Given the description of an element on the screen output the (x, y) to click on. 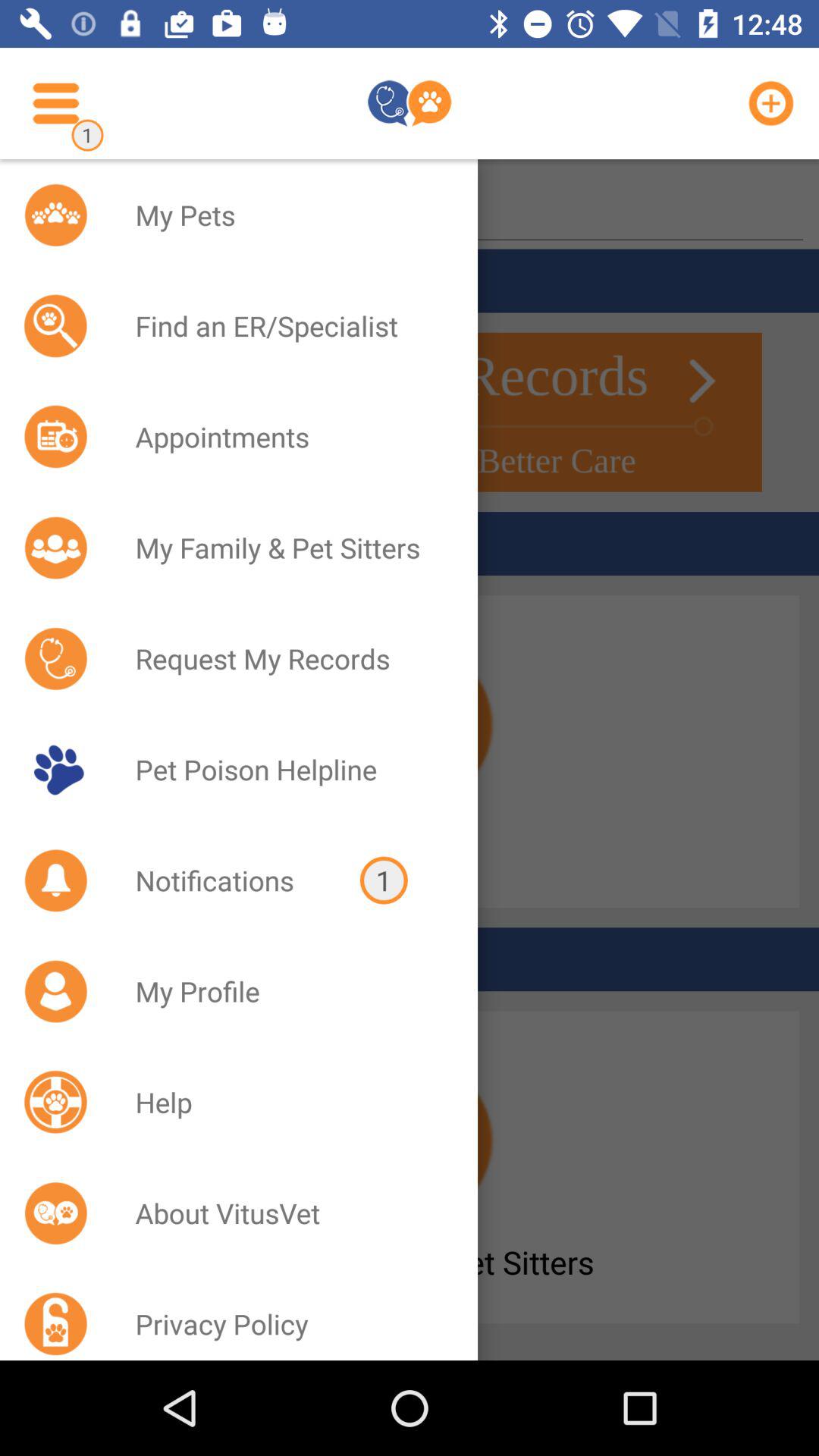
click on icon which is on left side of request my records (56, 658)
